Given the description of an element on the screen output the (x, y) to click on. 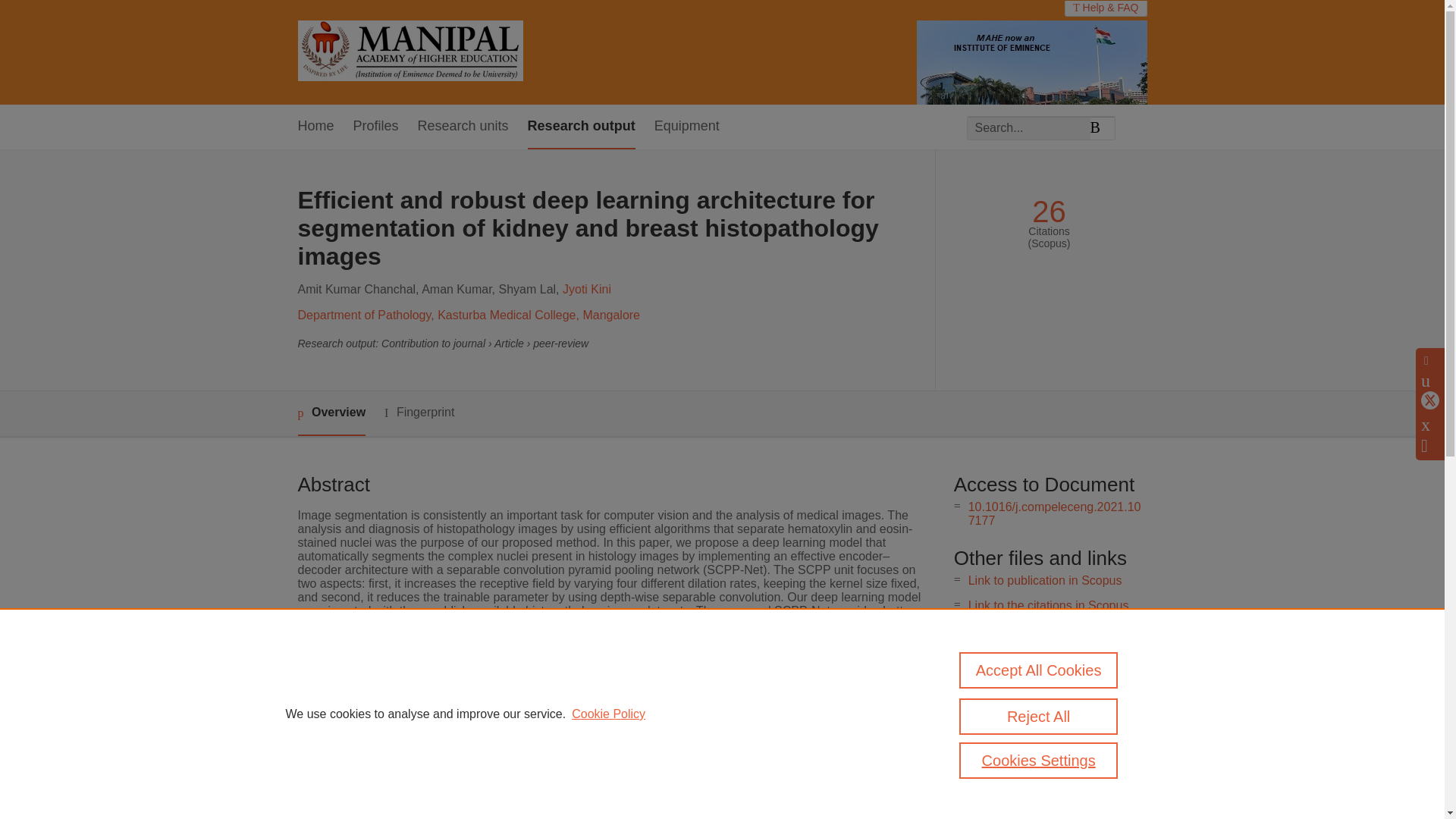
Research units (462, 126)
Manipal Academy of Higher Education, Manipal, India Home (409, 52)
Link to publication in Scopus (1045, 580)
Department of Pathology, Kasturba Medical College, Mangalore (468, 314)
26 (1048, 212)
Computers and Electrical Engineering (608, 711)
Profiles (375, 126)
Equipment (686, 126)
Jyoti Kini (586, 288)
Link to the citations in Scopus (1048, 604)
Research output (580, 126)
Fingerprint (419, 412)
Overview (331, 413)
